Given the description of an element on the screen output the (x, y) to click on. 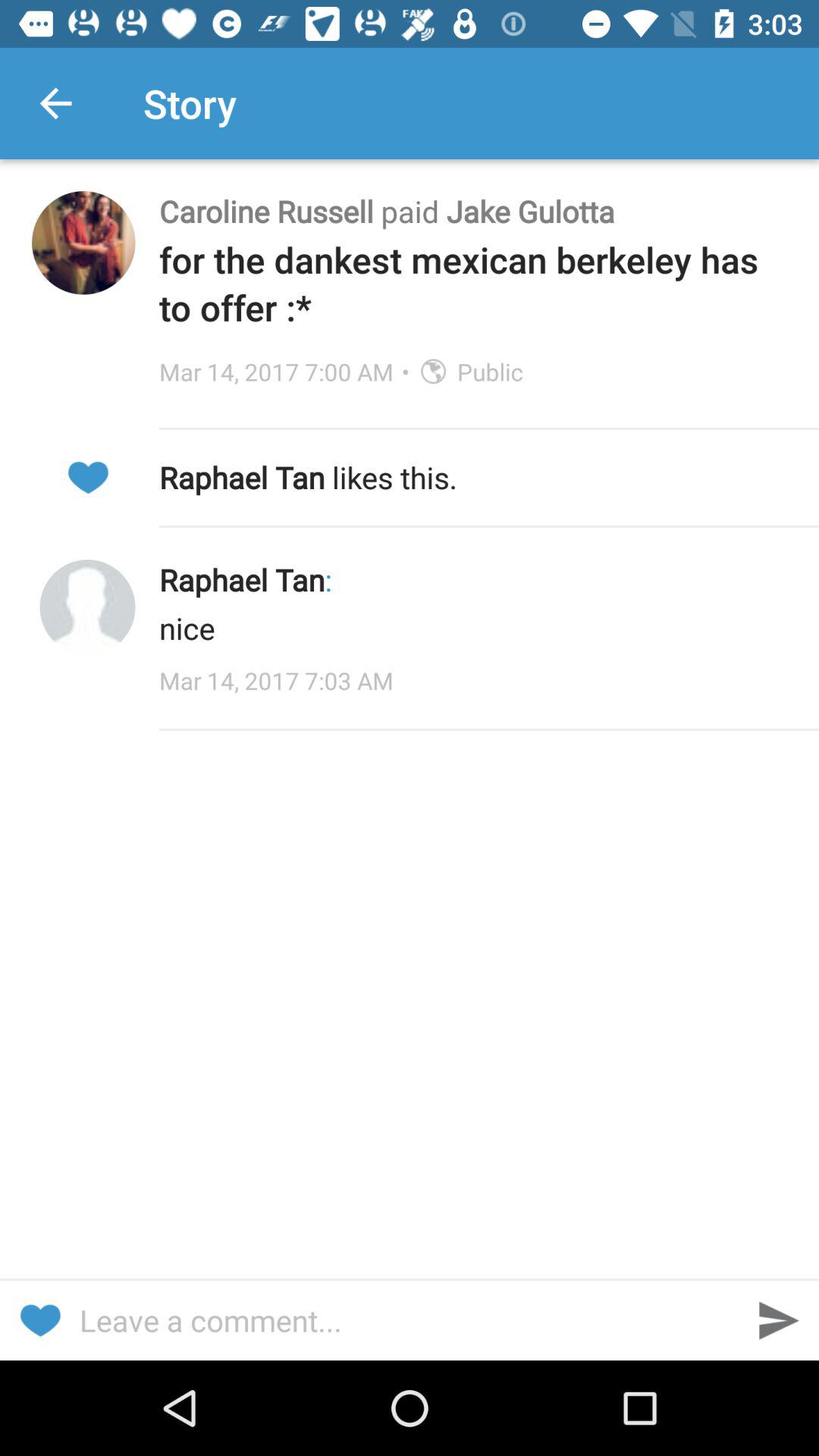
toggle comment option (409, 1320)
